Given the description of an element on the screen output the (x, y) to click on. 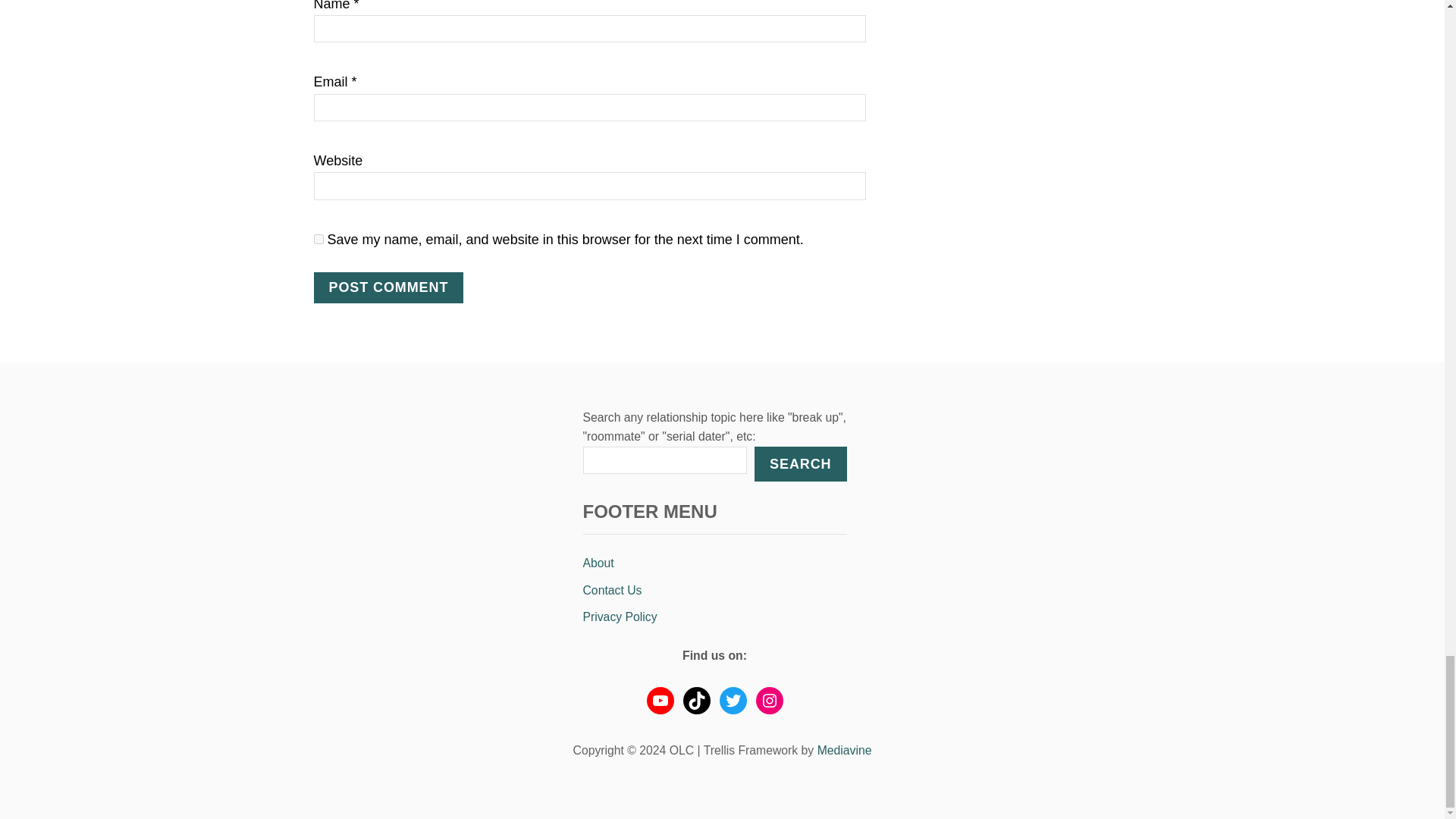
TikTok (696, 700)
Mediavine (844, 749)
Instagram (769, 700)
Twitter (732, 700)
YouTube (659, 700)
Post Comment (389, 287)
Post Comment (389, 287)
Contact Us (713, 590)
About (713, 563)
yes (318, 239)
Privacy Policy (713, 616)
SEARCH (799, 463)
